Given the description of an element on the screen output the (x, y) to click on. 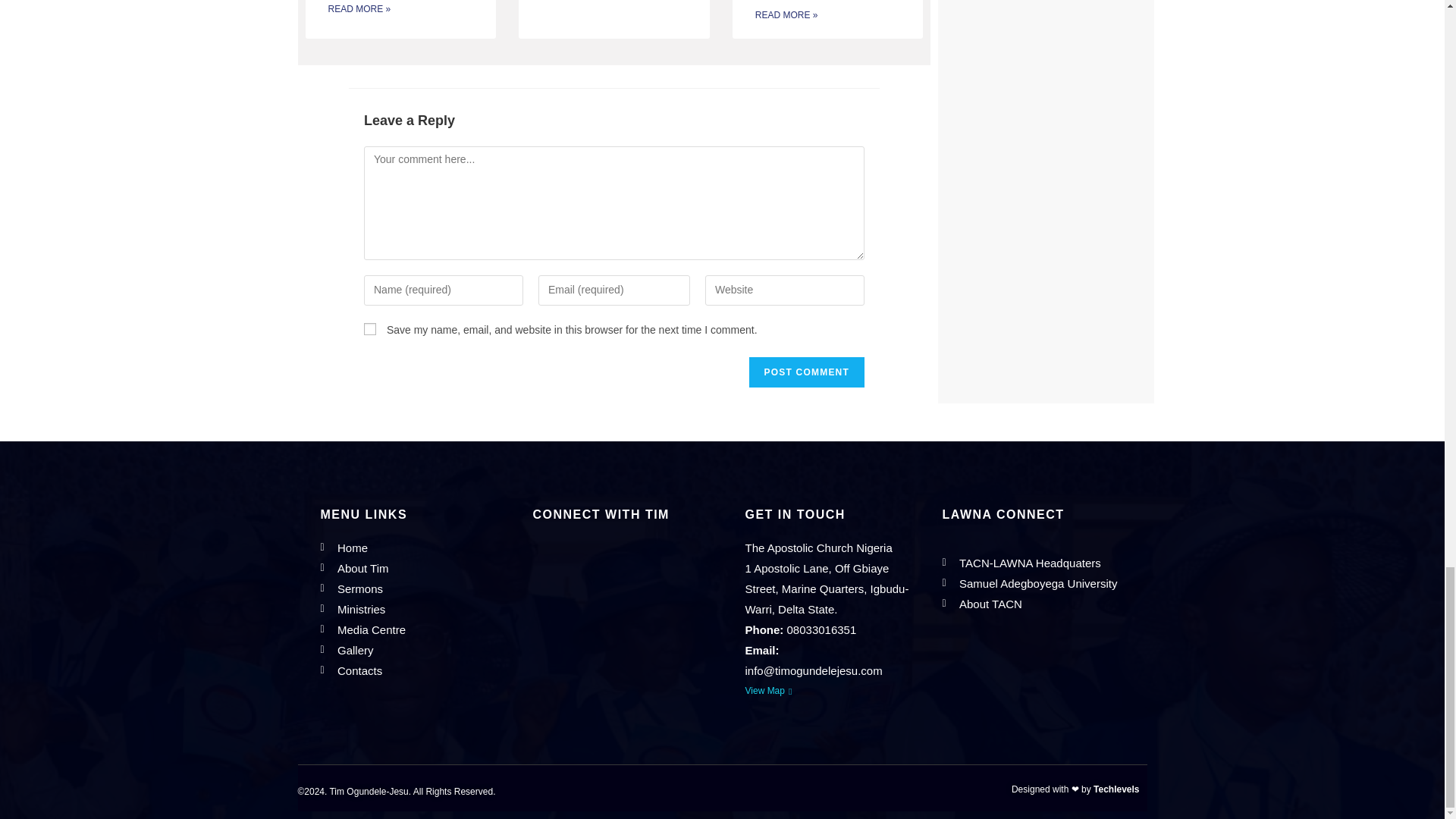
Post Comment (806, 372)
yes (369, 328)
